Given the description of an element on the screen output the (x, y) to click on. 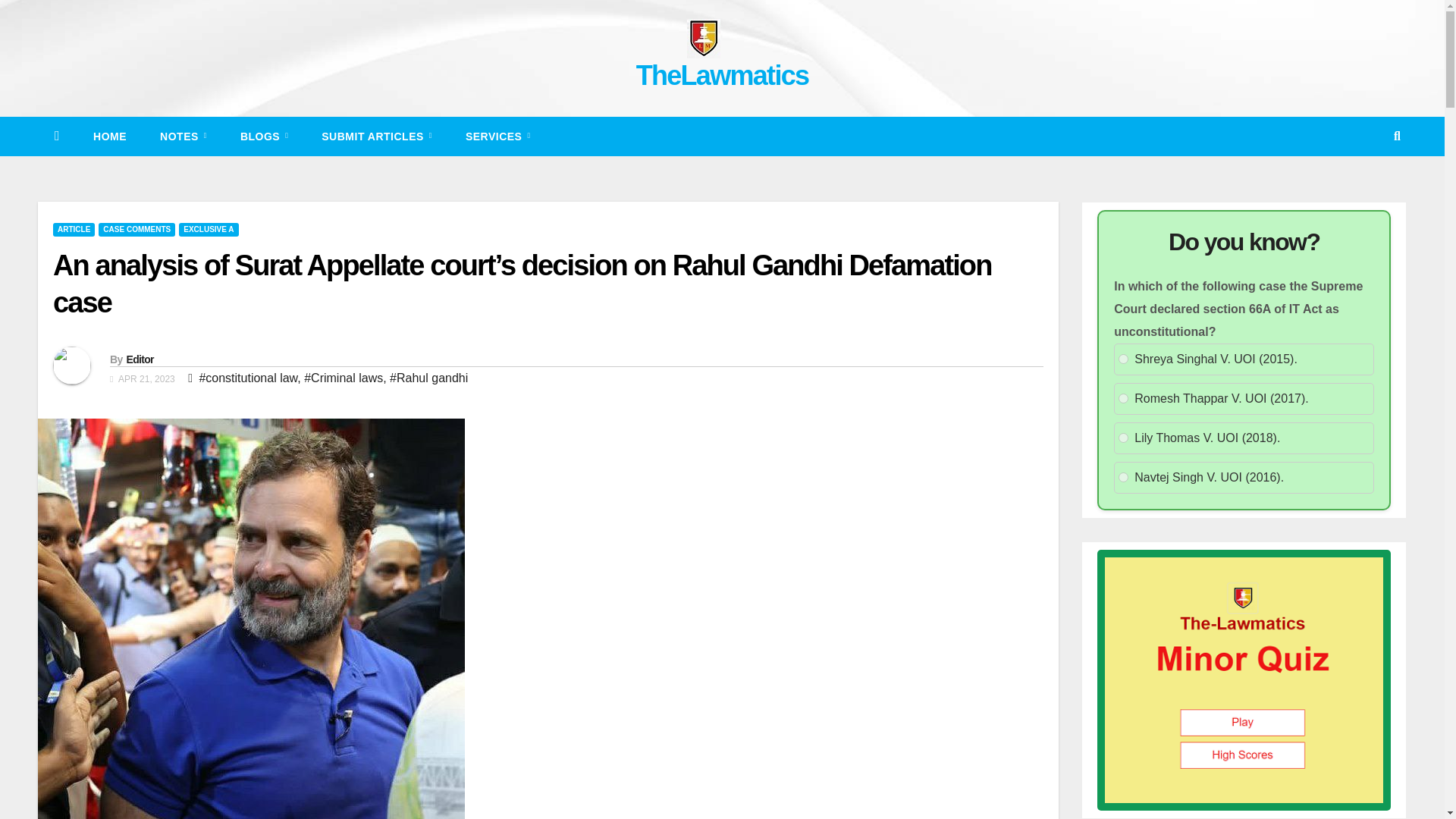
BLOGS (264, 136)
SUBMIT ARTICLES (376, 136)
3 (1123, 438)
1 (1123, 358)
Services (497, 136)
ARTICLE (73, 229)
TheLawmatics (722, 74)
NOTES (183, 136)
BLOGS (264, 136)
SERVICES (497, 136)
